Given the description of an element on the screen output the (x, y) to click on. 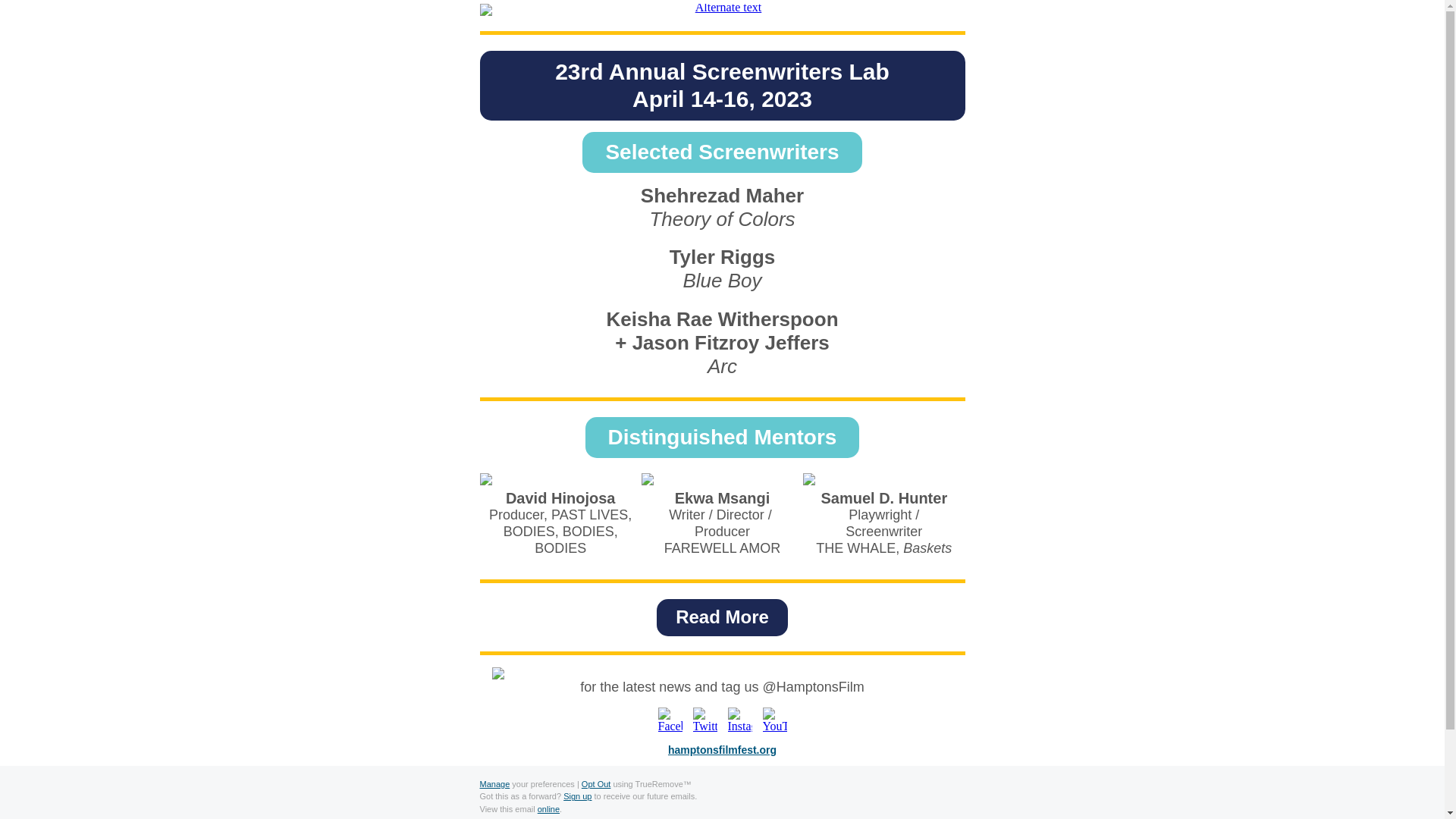
hamptonsfilmfest.org (722, 749)
Twitter (705, 719)
Opt Out (595, 783)
Instagram (740, 719)
Read More (721, 85)
online (721, 617)
Manage (548, 809)
Sign up (494, 783)
Alternate text (577, 795)
Facebook (721, 9)
Distinguished Mentors (670, 719)
Selected Screenwriters (722, 436)
YouTube (721, 151)
